Given the description of an element on the screen output the (x, y) to click on. 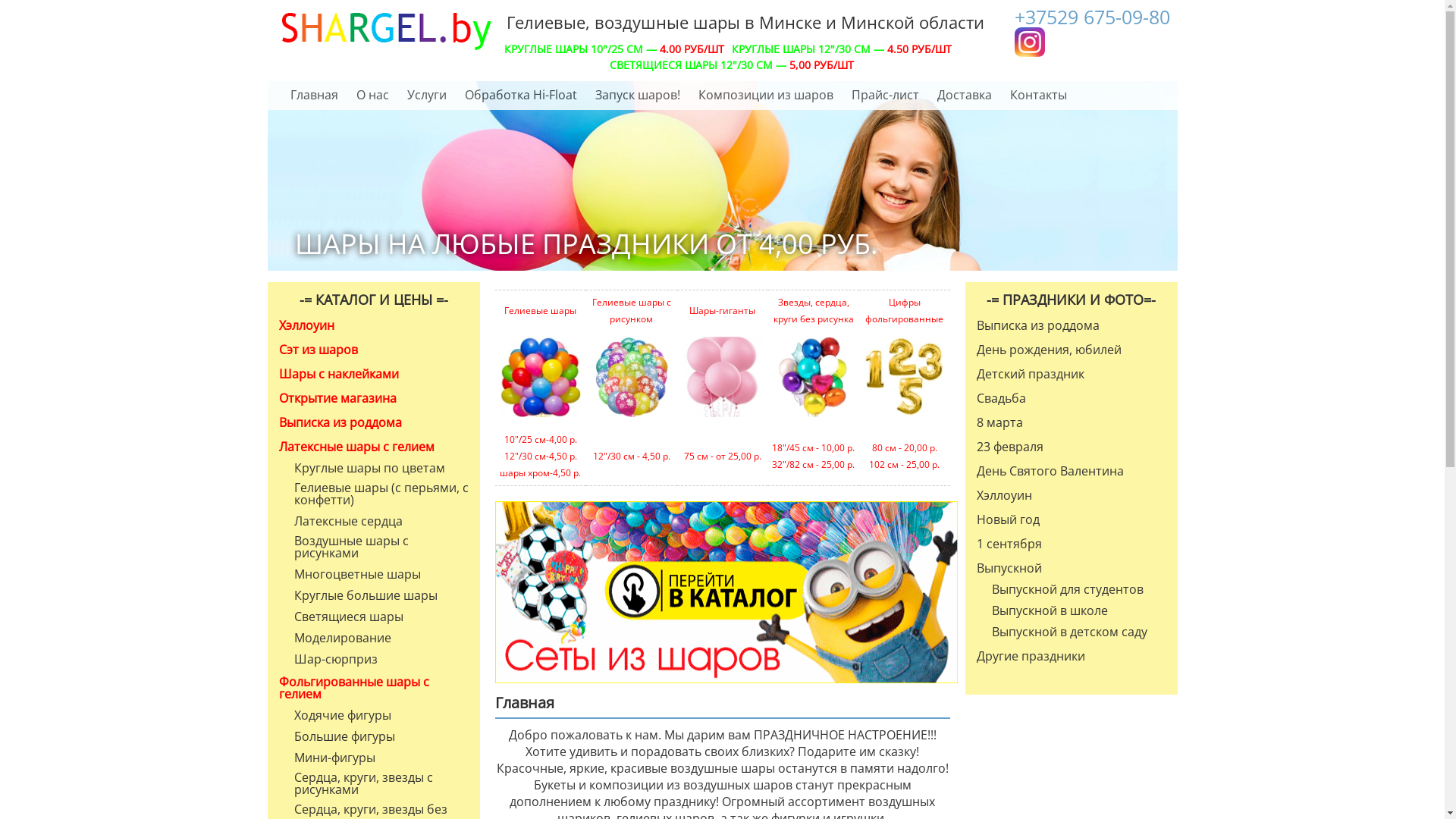
+37529 675-09-80 Element type: text (1092, 16)
shargel.by Element type: hover (384, 31)
